Given the description of an element on the screen output the (x, y) to click on. 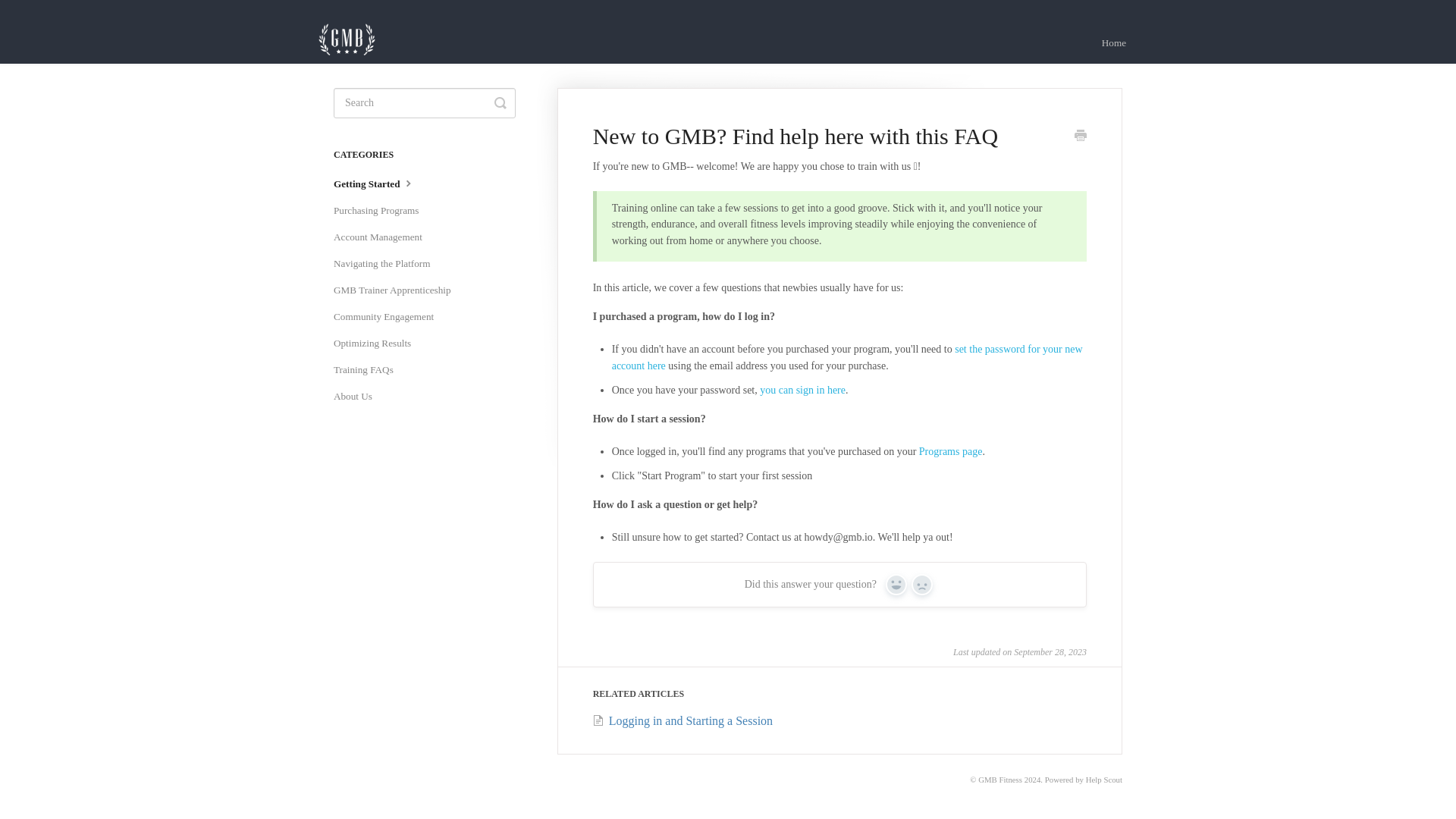
Community Engagement (389, 316)
Account Management (383, 237)
Training FAQs (368, 369)
Optimizing Results (377, 343)
Purchasing Programs (381, 210)
Navigating the Platform (387, 263)
you can sign in here (802, 389)
About Us (358, 396)
Home (1113, 42)
Logging in and Starting a Session (682, 720)
